Given the description of an element on the screen output the (x, y) to click on. 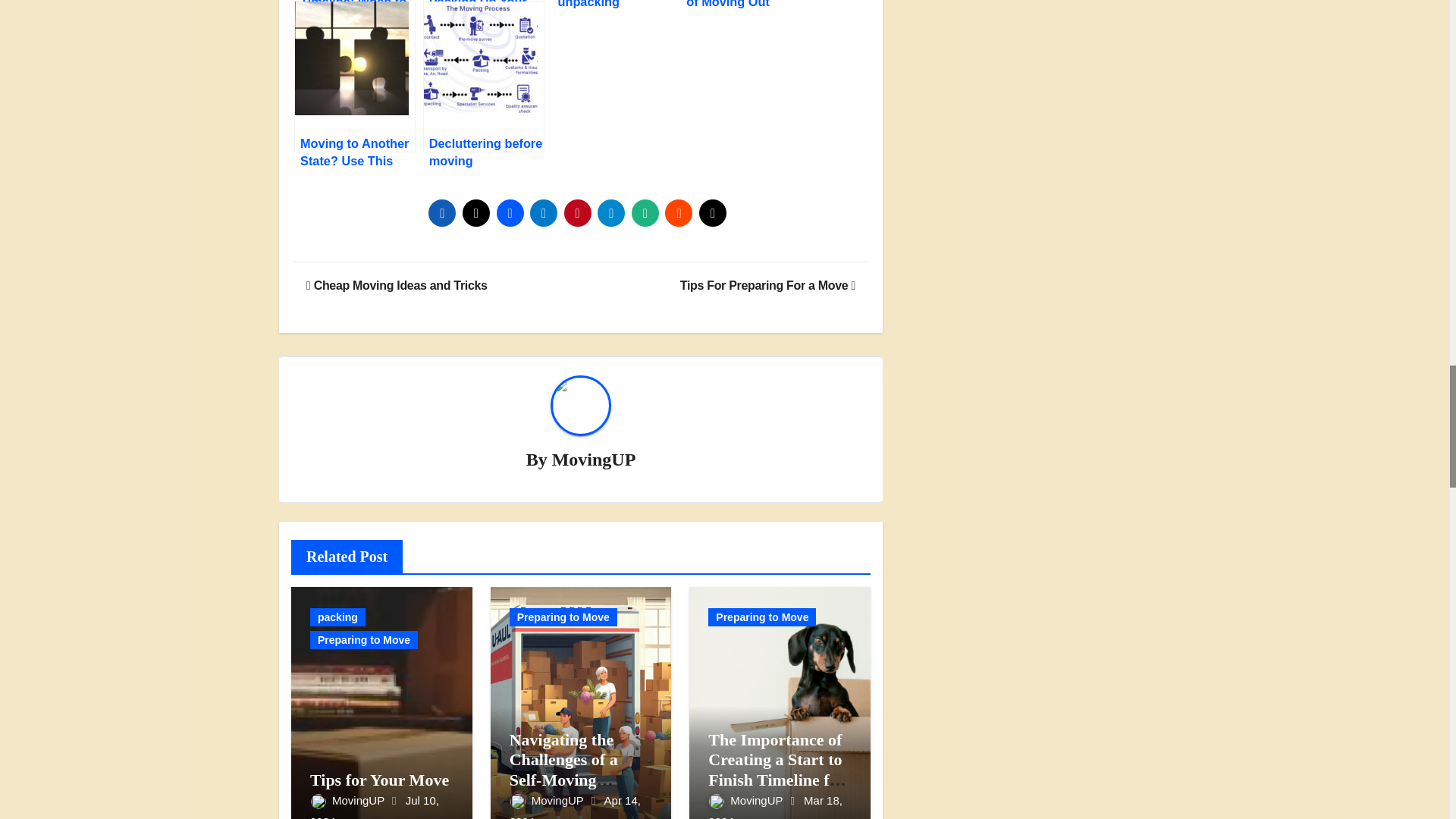
packing (337, 617)
Tips for Your Move (379, 779)
Permalink to: Tips for Your Move (379, 779)
Preparing to Move (363, 639)
Tips For Preparing For a Move (767, 285)
Cheap Moving Ideas and Tricks (396, 285)
MovingUP (348, 799)
MovingUP (593, 459)
